Given the description of an element on the screen output the (x, y) to click on. 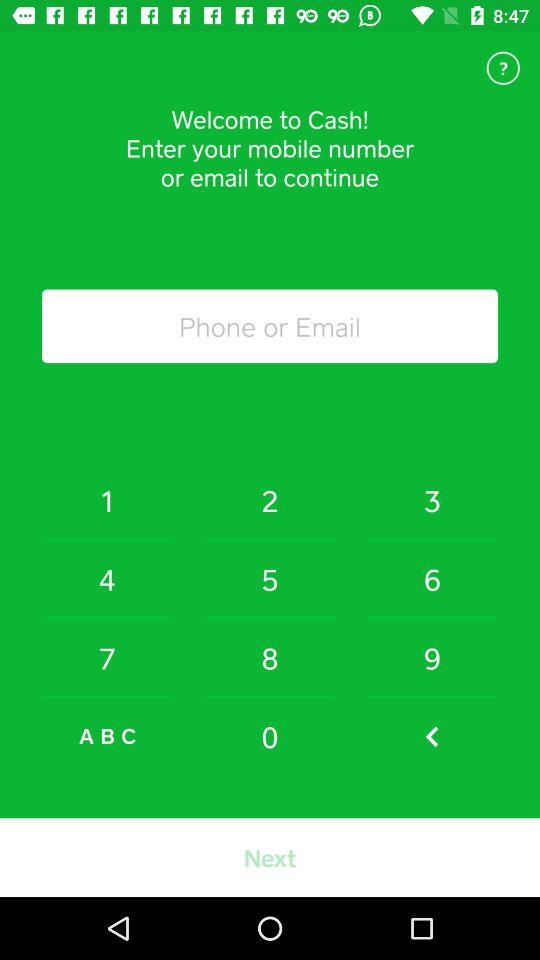
email enter option (270, 326)
